Given the description of an element on the screen output the (x, y) to click on. 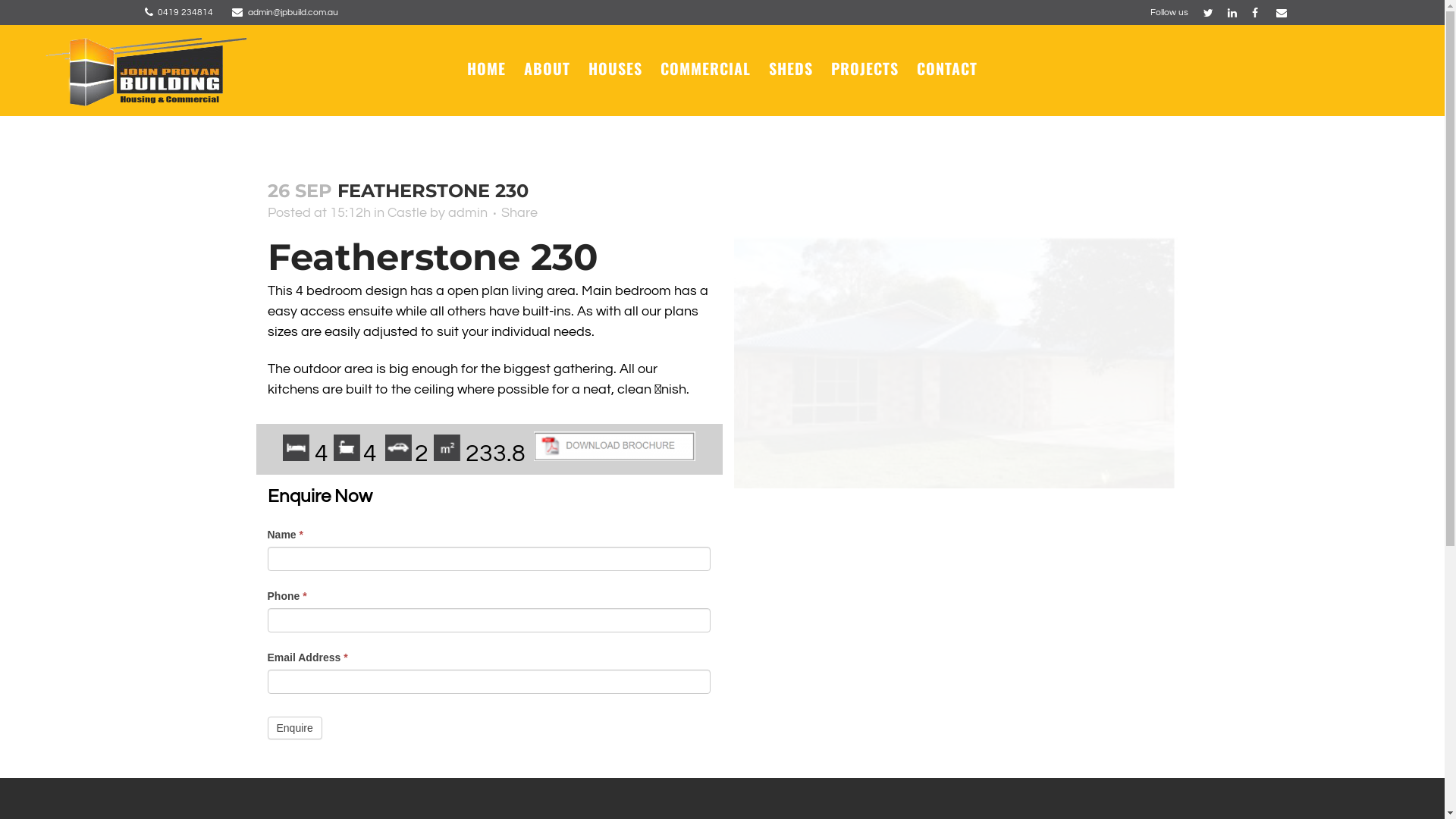
0419 234814 Element type: text (185, 12)
CONTACT Element type: text (946, 68)
SHEDS Element type: text (790, 68)
Share Element type: text (518, 212)
admin@jpbuild.com.au Element type: text (292, 12)
PROJECTS Element type: text (864, 68)
admin Element type: text (466, 212)
HOUSES Element type: text (615, 68)
ABOUT Element type: text (546, 68)
HOME Element type: text (486, 68)
COMMERCIAL Element type: text (705, 68)
Enquire Element type: text (293, 727)
Castle Element type: text (406, 212)
